Given the description of an element on the screen output the (x, y) to click on. 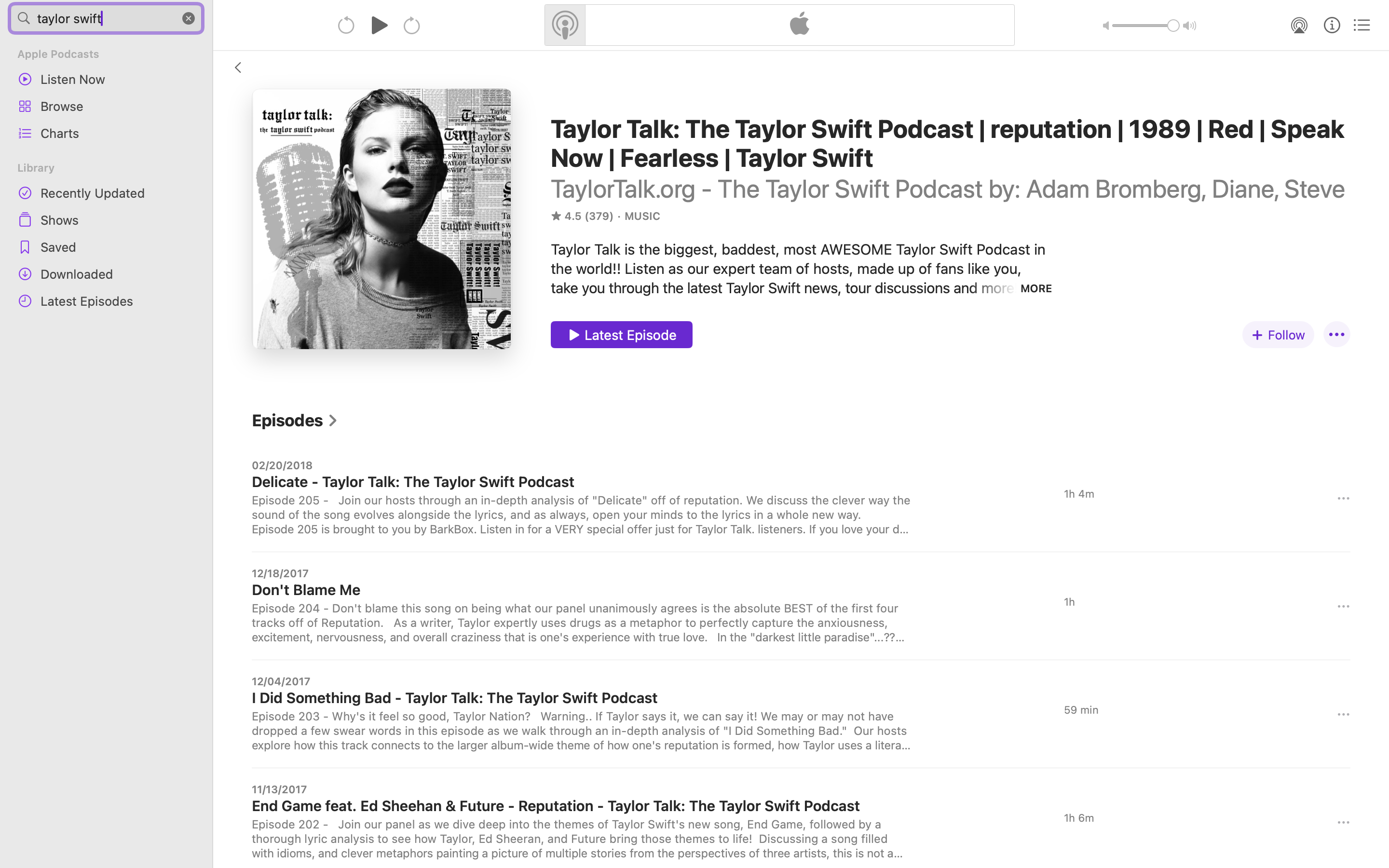
1.0 Element type: AXSlider (1145, 25)
taylor swift Element type: AXTextField (105, 17)
